Given the description of an element on the screen output the (x, y) to click on. 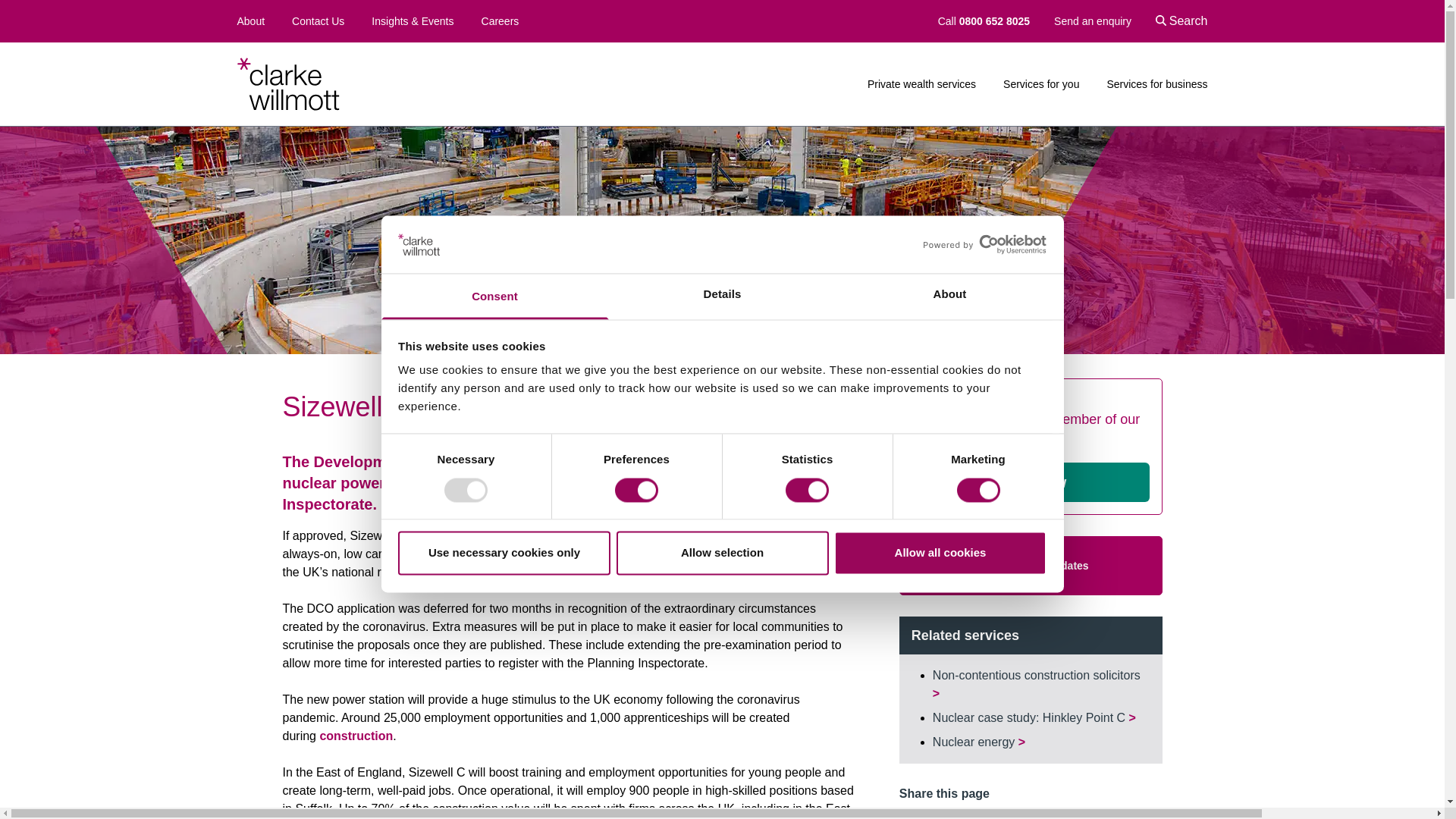
Details (721, 297)
Consent (494, 297)
Allow selection (721, 553)
About (948, 297)
Use necessary cookies only (503, 553)
Allow all cookies (940, 553)
